Given the description of an element on the screen output the (x, y) to click on. 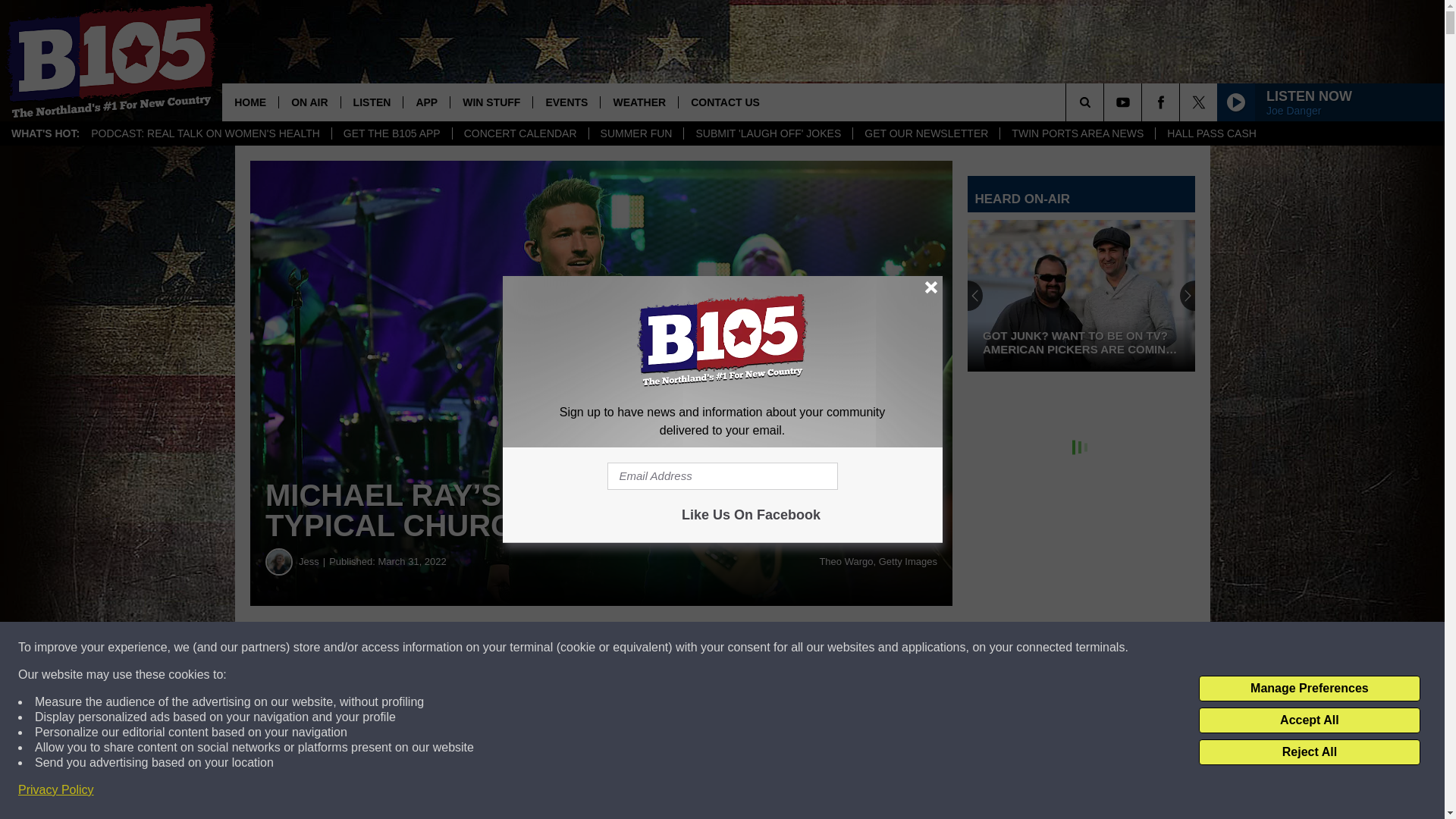
HALL PASS CASH (1211, 133)
HOME (250, 102)
ON AIR (308, 102)
Share on Facebook (460, 647)
Manage Preferences (1309, 688)
GET THE B105 APP (391, 133)
GET OUR NEWSLETTER (924, 133)
SUBMIT 'LAUGH OFF' JOKES (766, 133)
CONCERT CALENDAR (519, 133)
Reject All (1309, 751)
TWIN PORTS AREA NEWS (1076, 133)
LISTEN (371, 102)
SUMMER FUN (636, 133)
Privacy Policy (55, 789)
WIN STUFF (490, 102)
